Given the description of an element on the screen output the (x, y) to click on. 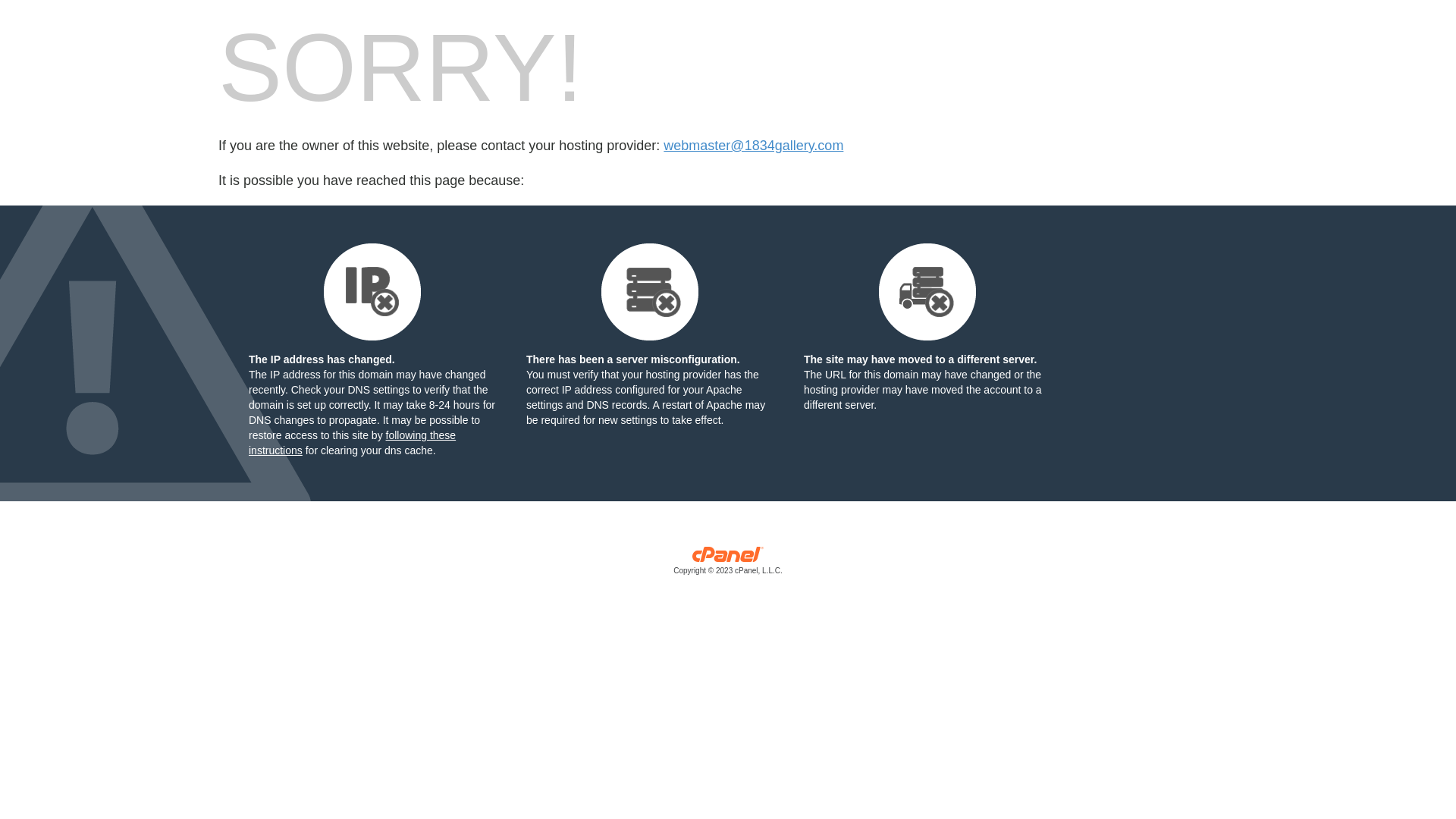
webmaster@1834gallery.com Element type: text (753, 145)
following these instructions Element type: text (351, 442)
